Given the description of an element on the screen output the (x, y) to click on. 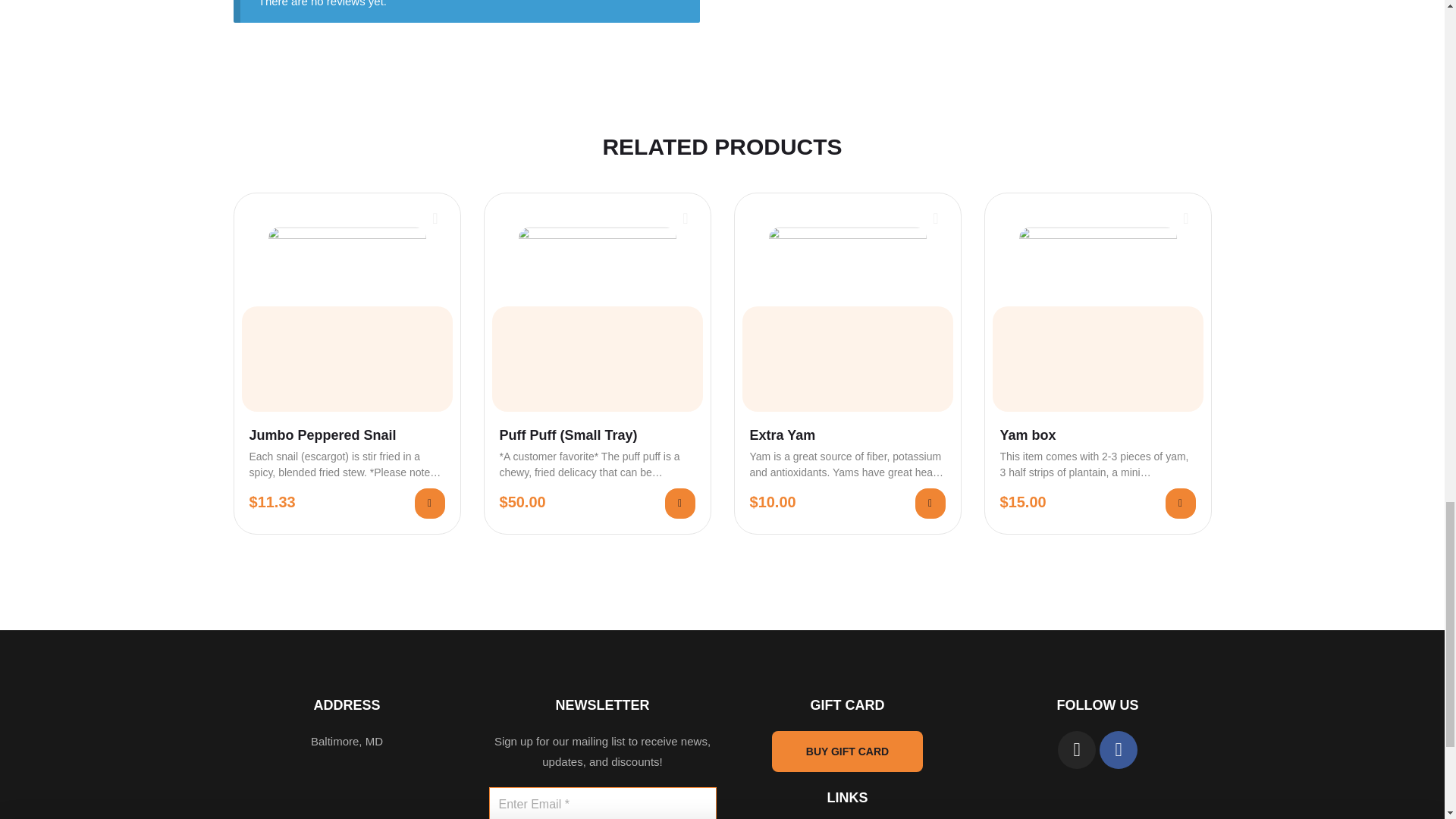
ADD TO CART (929, 503)
ADD TO CART (428, 503)
ADD TO CART (678, 503)
Yam box (1096, 435)
ADD TO WISHLIST (1186, 217)
ADD TO WISHLIST (685, 217)
ADD TO CART (1179, 503)
Extra Yam (846, 435)
Jumbo Peppered Snail (346, 435)
ADD TO WISHLIST (435, 217)
